Given the description of an element on the screen output the (x, y) to click on. 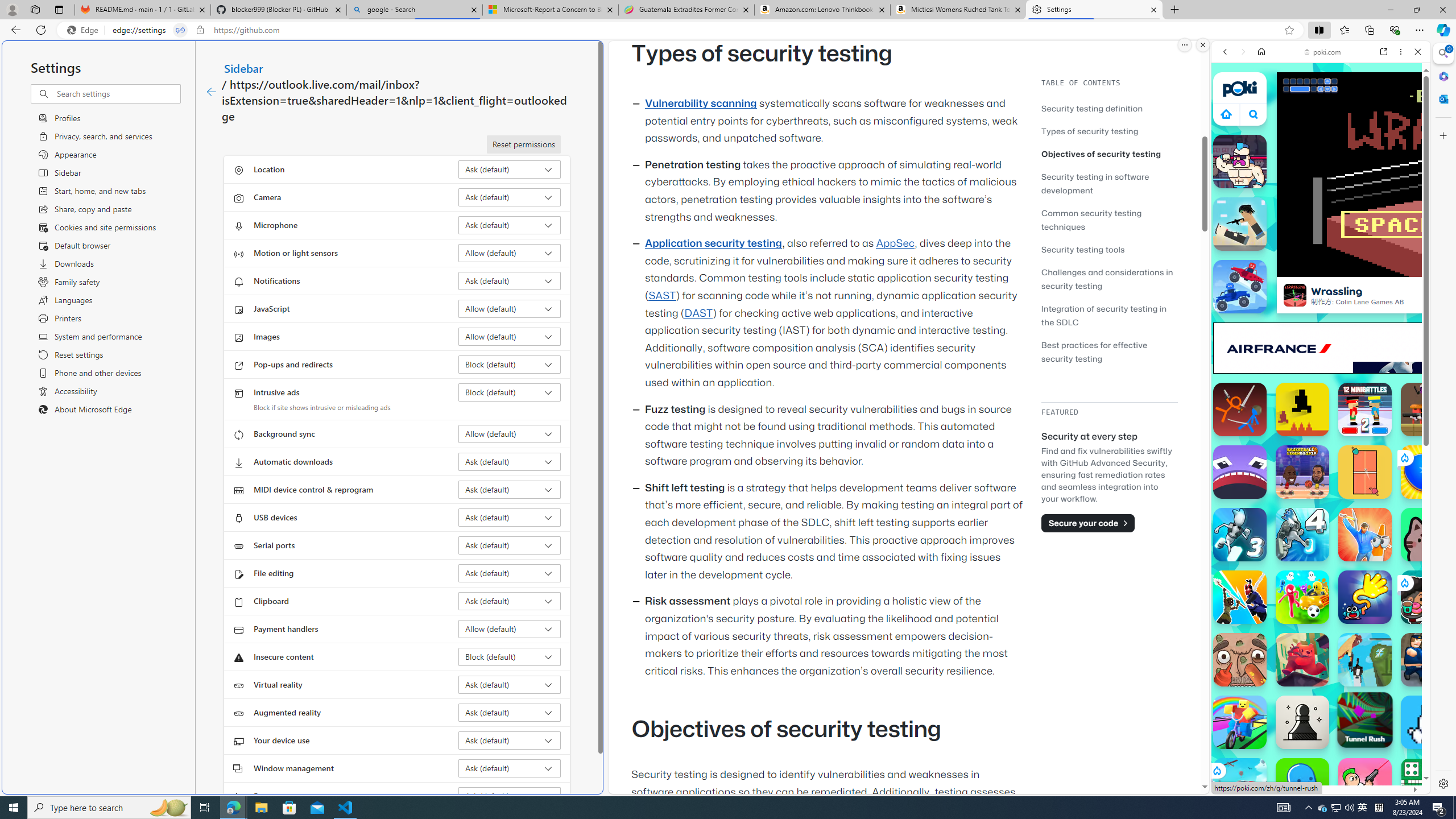
Close split screen. (1202, 45)
Secure your code (1088, 522)
Motion or light sensors Allow (default) (509, 253)
Automatic downloads Ask (default) (509, 461)
Intrusive ads Block (default) (509, 392)
More options. (1183, 45)
Io Games (1320, 350)
Ping Pong (1364, 471)
Sports Games (1320, 379)
Security testing tools (1083, 248)
12 Mini Battles 2 12 Mini Battles 2 (1364, 409)
